Given the description of an element on the screen output the (x, y) to click on. 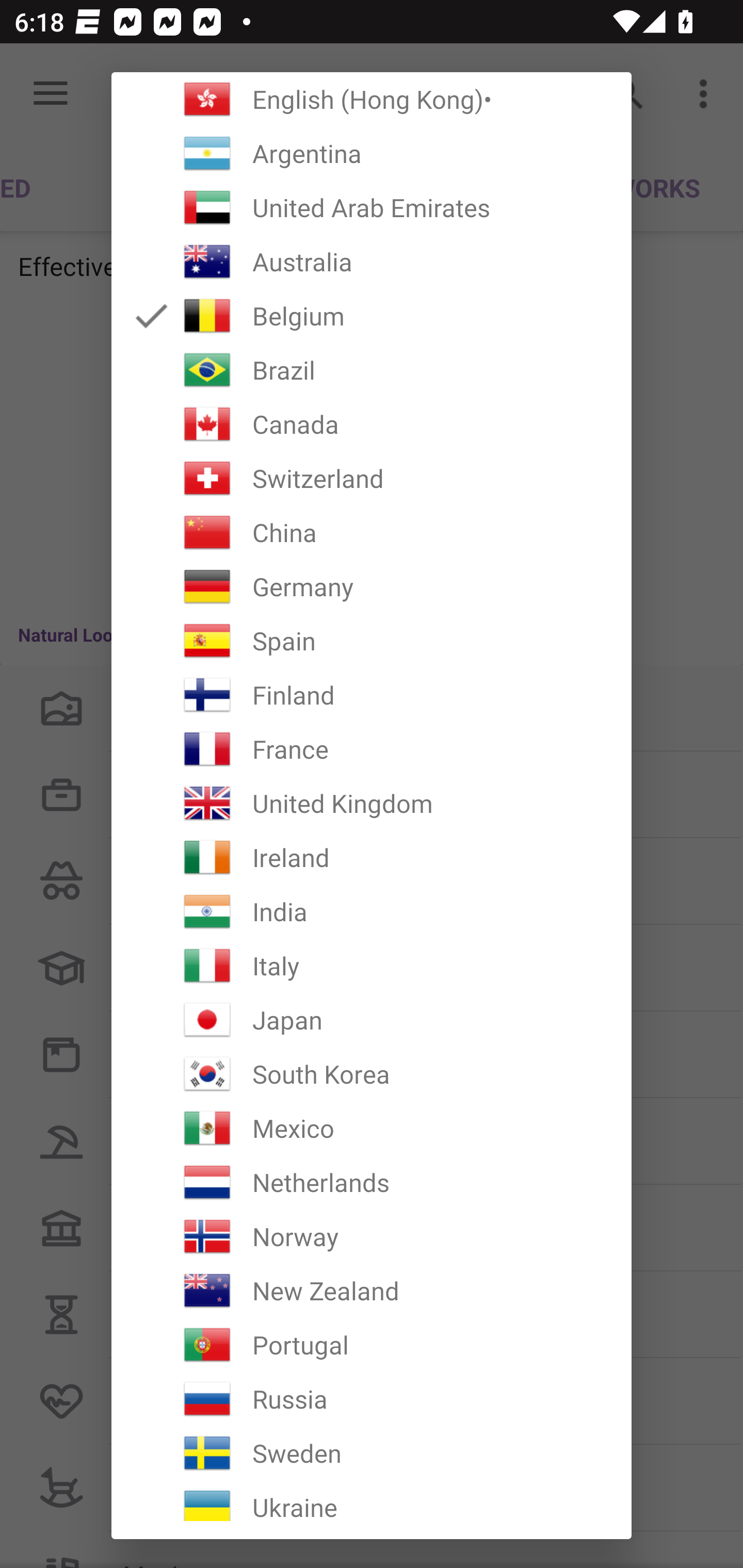
English (Hong Kong)• (371, 99)
Argentina (371, 153)
United Arab Emirates (371, 207)
Australia (371, 261)
Belgium (371, 315)
Brazil (371, 369)
Canada (371, 423)
Switzerland (371, 477)
China (371, 531)
Germany (371, 586)
Spain (371, 640)
Finland (371, 694)
France (371, 749)
United Kingdom (371, 803)
Ireland (371, 857)
India (371, 911)
Italy (371, 965)
Japan (371, 1019)
South Korea (371, 1073)
Mexico (371, 1127)
Netherlands (371, 1181)
Norway (371, 1235)
New Zealand (371, 1290)
Portugal (371, 1344)
Russia (371, 1399)
Sweden (371, 1453)
Ukraine (371, 1500)
